Given the description of an element on the screen output the (x, y) to click on. 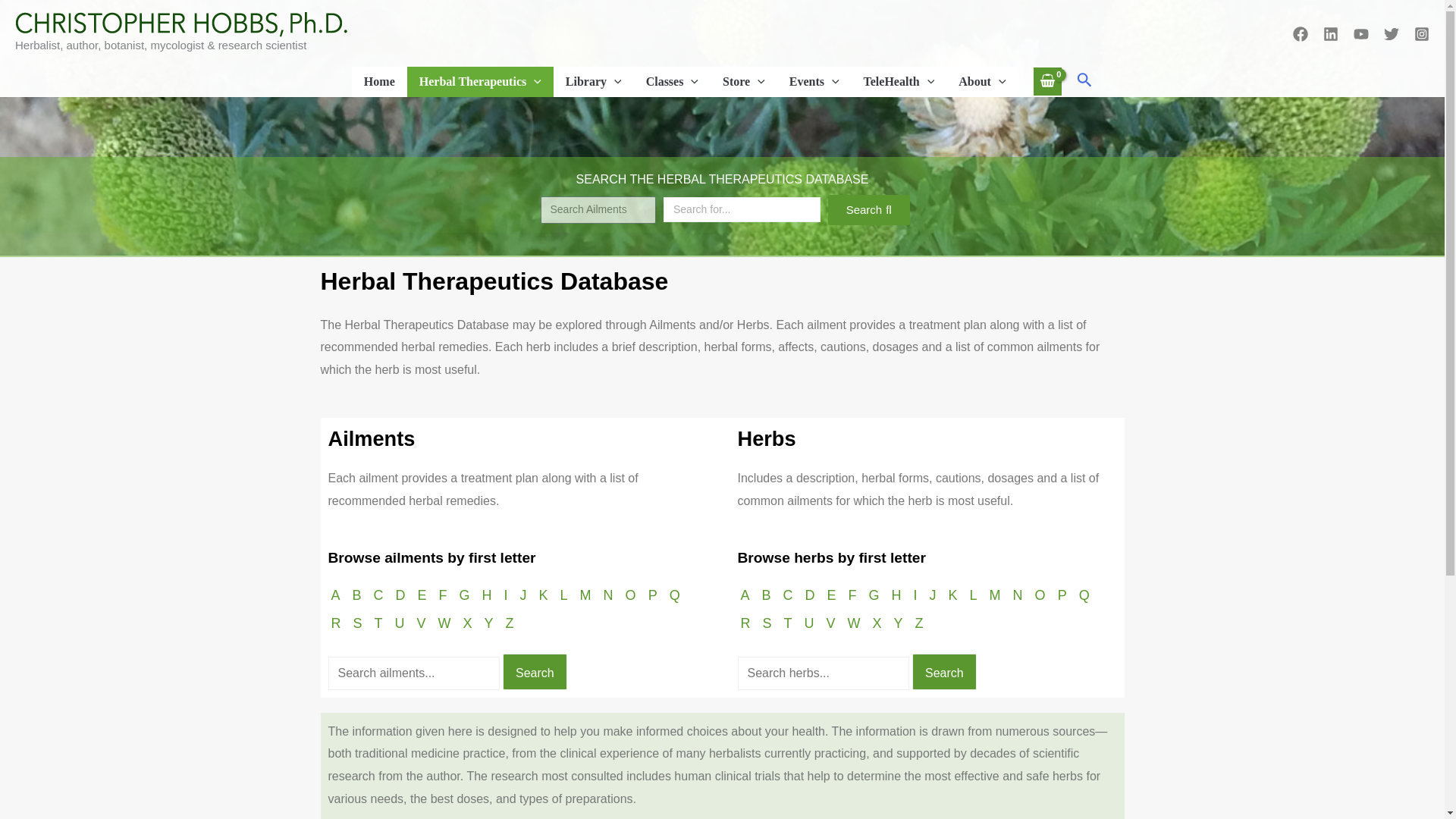
Search (822, 673)
Herbal Therapeutics (480, 81)
Library (593, 81)
Home (379, 81)
Search (413, 673)
